Given the description of an element on the screen output the (x, y) to click on. 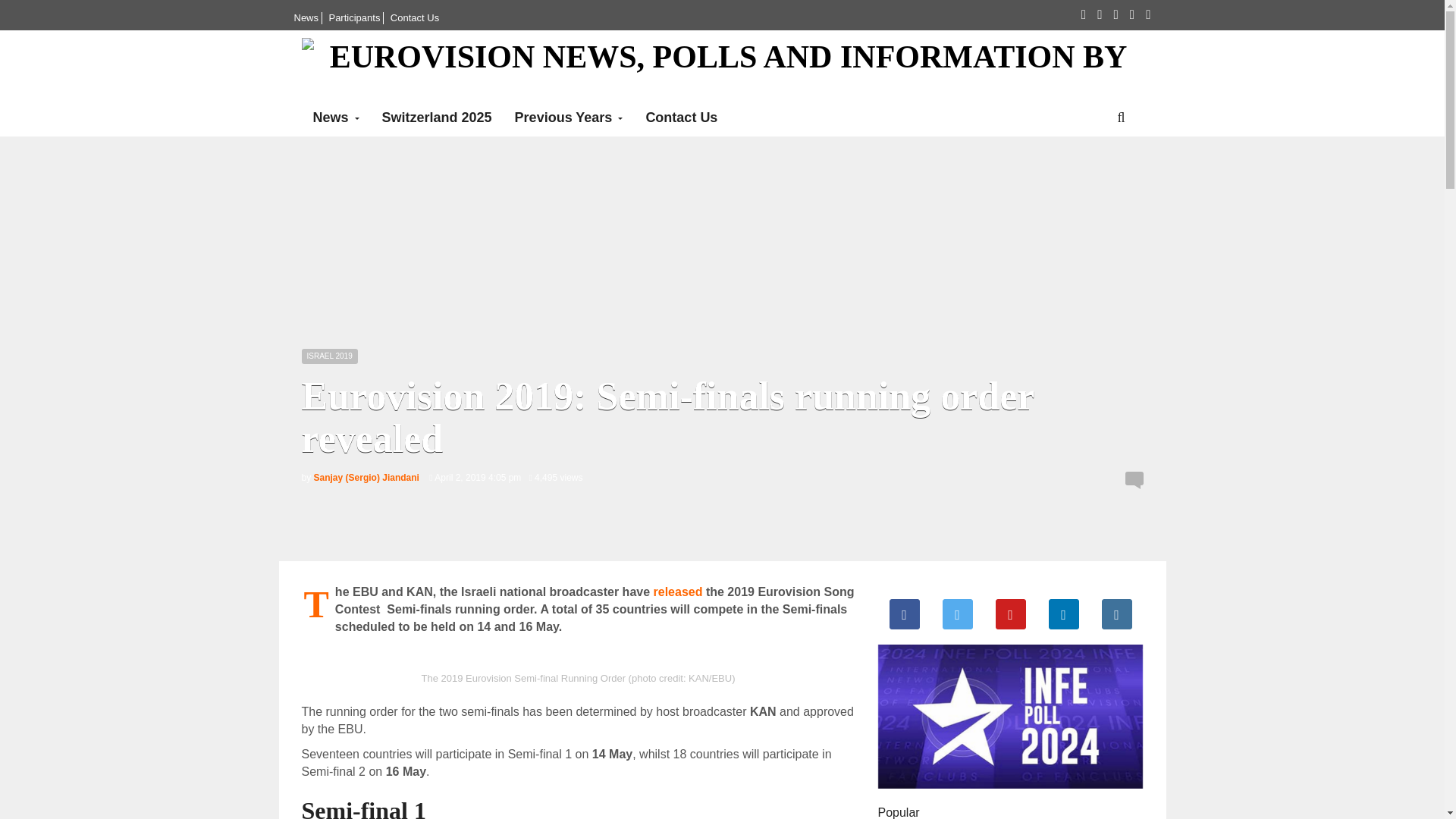
INFE Poll 2024 (1009, 716)
News (336, 117)
Participants (354, 18)
Contact Us (414, 18)
News (306, 18)
